Given the description of an element on the screen output the (x, y) to click on. 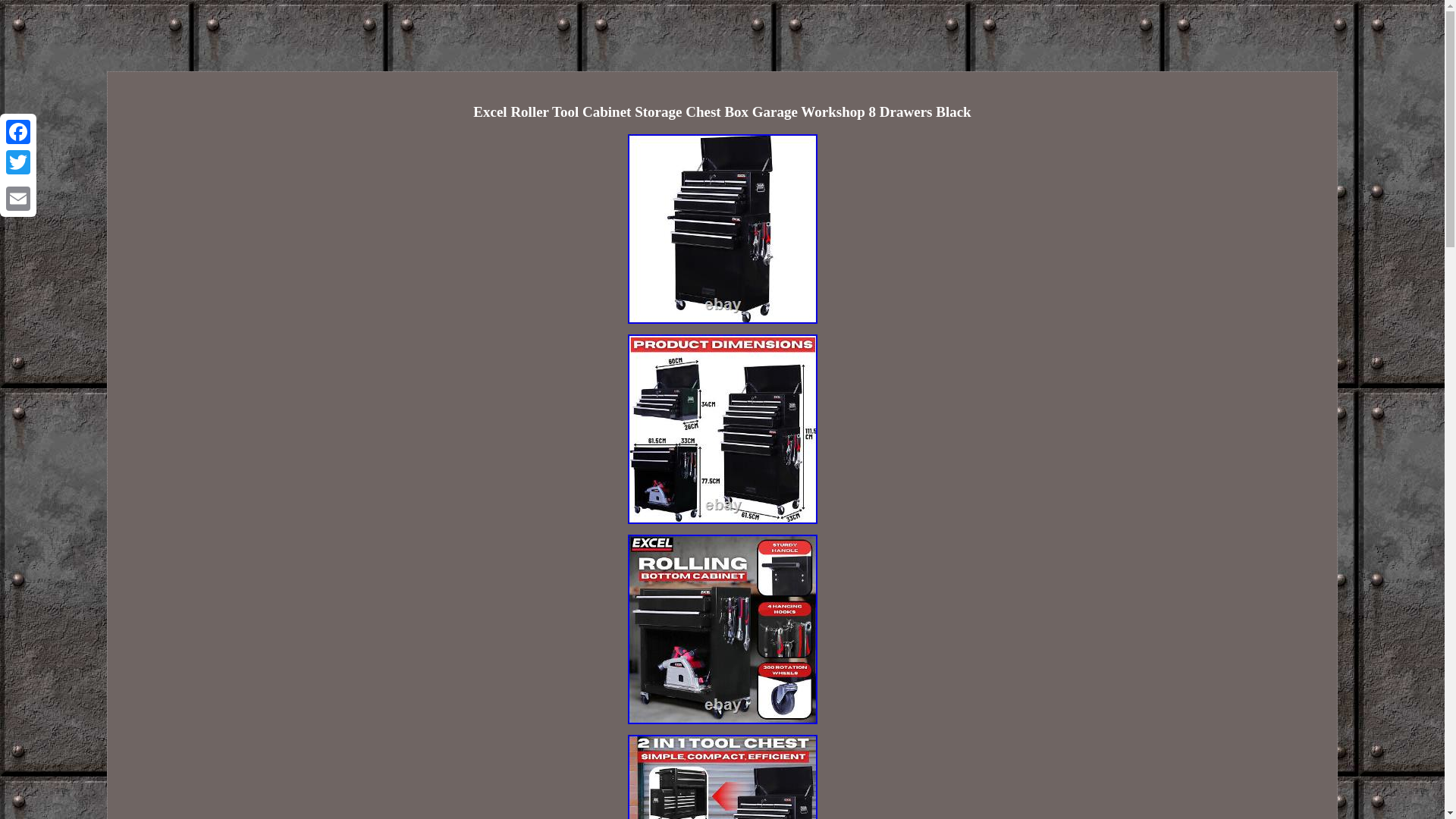
Twitter (17, 162)
Email (17, 198)
Facebook (17, 132)
